Given the description of an element on the screen output the (x, y) to click on. 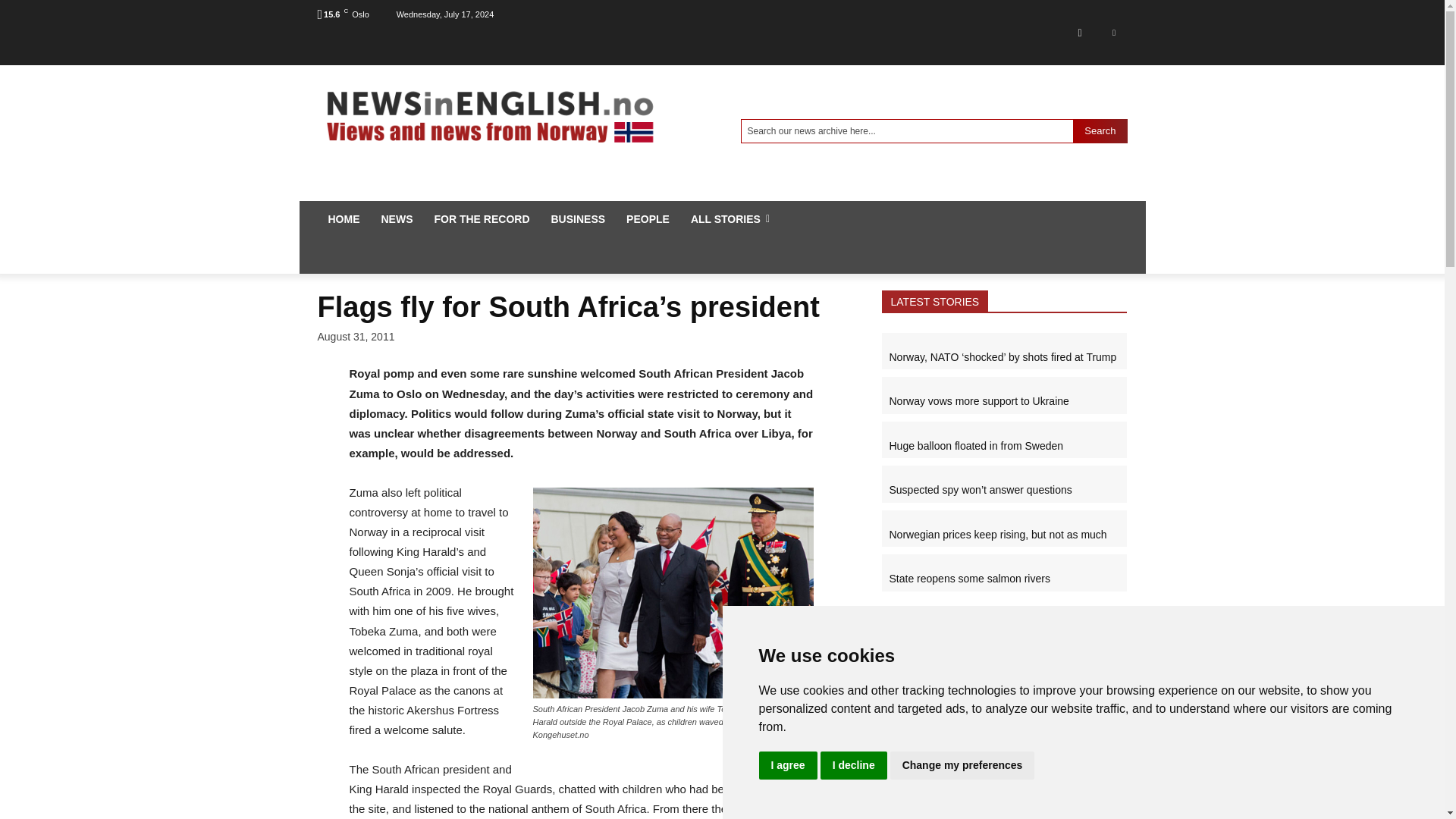
Search (1099, 130)
South African state visit (672, 592)
Norway vows more support to Ukraine (978, 400)
NEWS (396, 218)
PEOPLE (647, 218)
Huge balloon floated in from Sweden (975, 445)
HOME (343, 218)
ALL STORIES (729, 218)
I agree (787, 765)
Facebook (1079, 32)
FOR THE RECORD (481, 218)
Norwegian prices keep rising, but not as much (997, 534)
Twitter (1113, 32)
BUSINESS (577, 218)
State reopens some salmon rivers (968, 578)
